Given the description of an element on the screen output the (x, y) to click on. 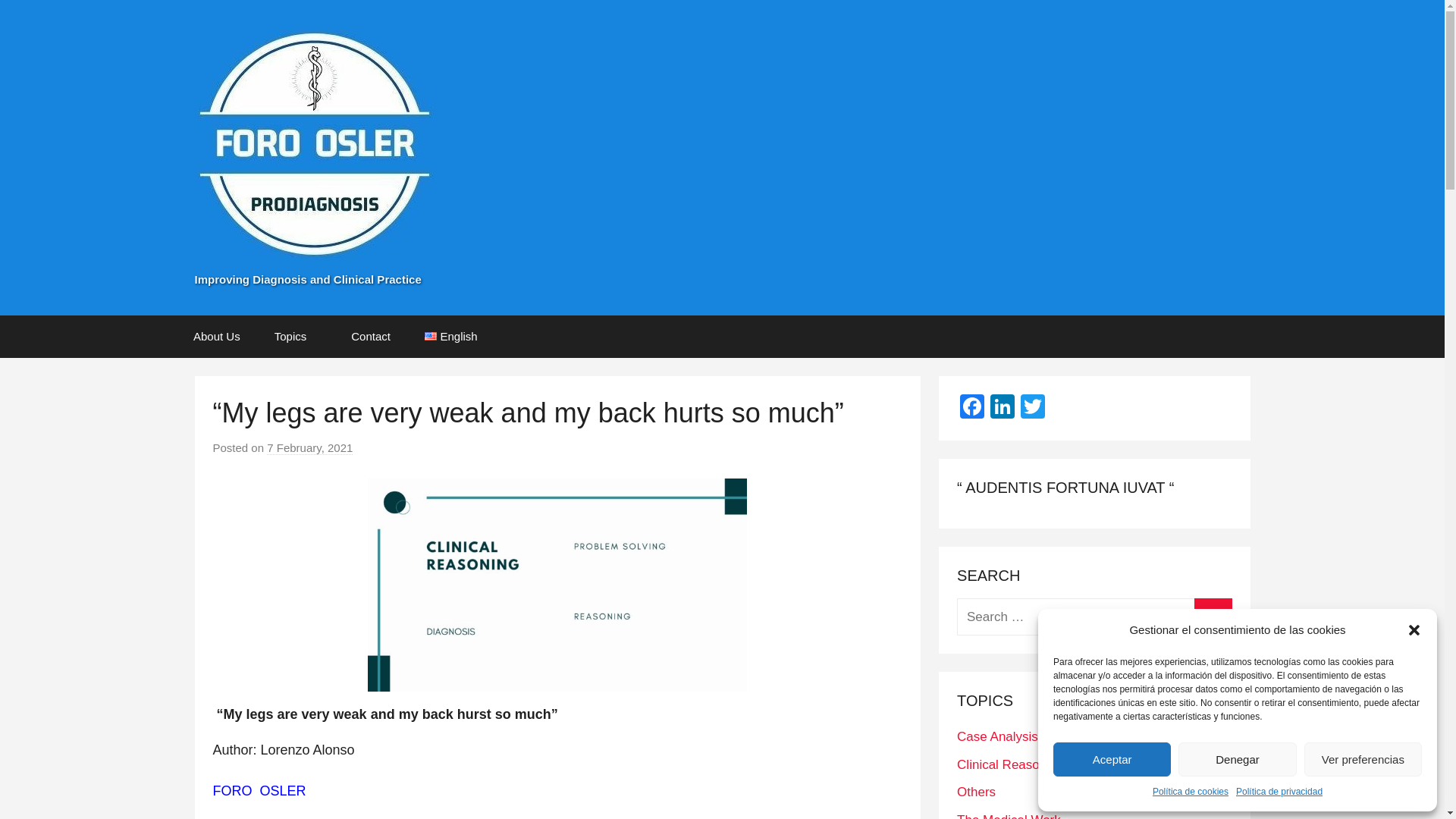
Ver preferencias (1363, 759)
Topics (295, 336)
Contact (370, 336)
Twitter (1032, 407)
About Us (216, 336)
Search for: (1093, 616)
Aceptar (1111, 759)
LinkedIn (1002, 407)
7 February, 2021 (309, 448)
English (456, 336)
Denegar (1236, 759)
Facebook (971, 407)
